Given the description of an element on the screen output the (x, y) to click on. 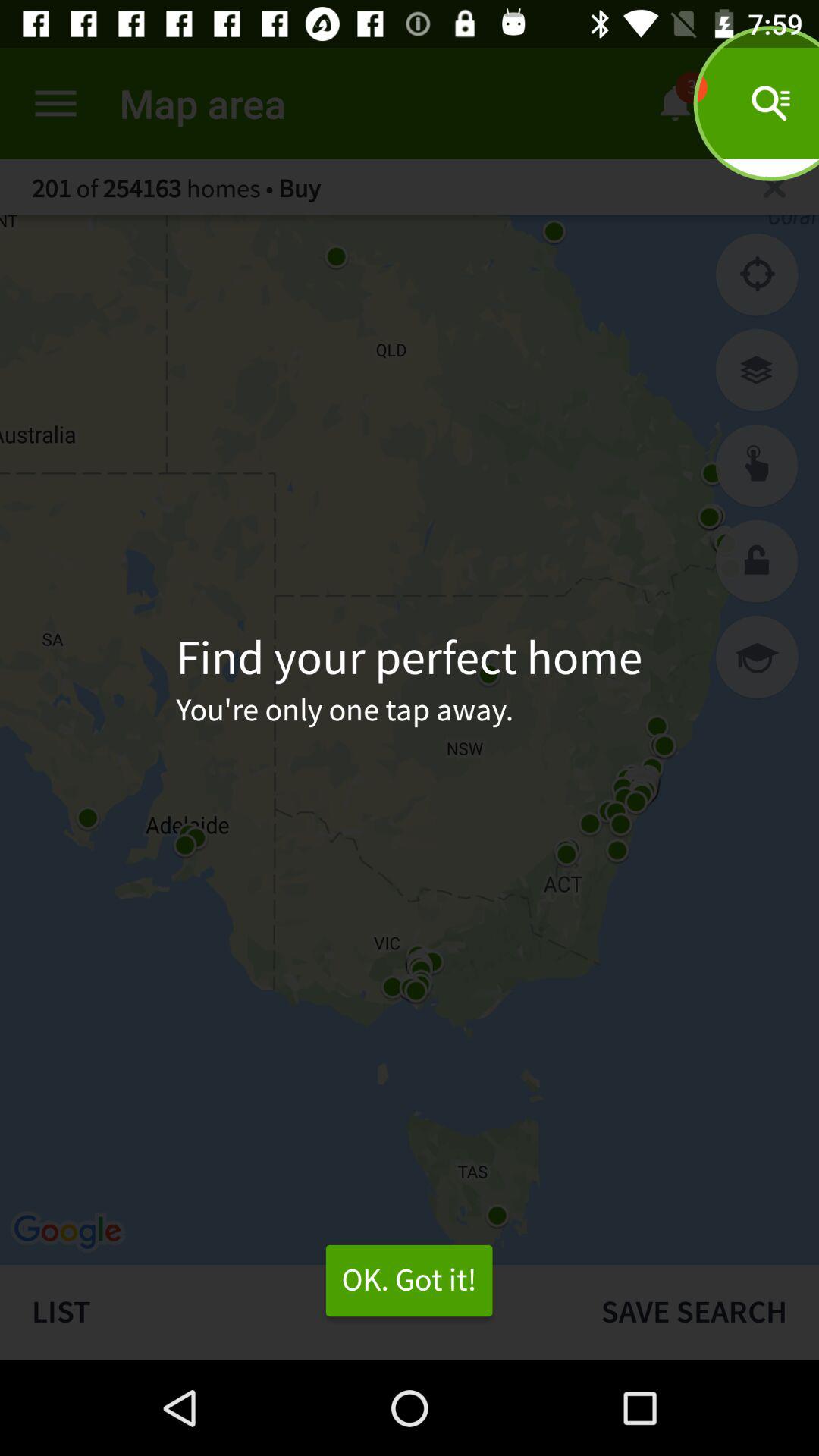
menu (55, 103)
